Given the description of an element on the screen output the (x, y) to click on. 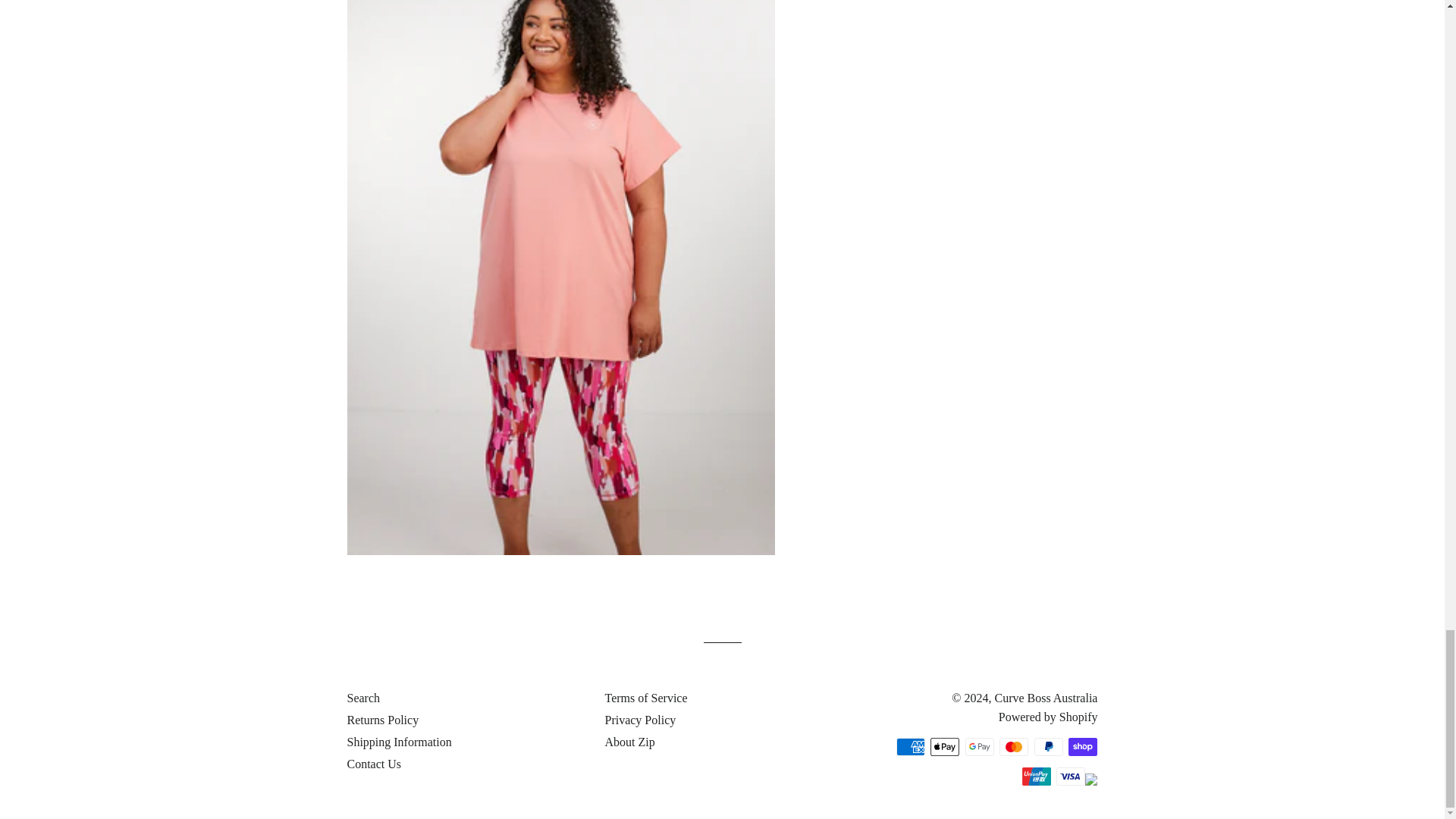
Union Pay (1036, 776)
American Express (910, 746)
PayPal (1047, 746)
Google Pay (979, 746)
Mastercard (1012, 746)
Shop Pay (1082, 746)
Apple Pay (944, 746)
Visa (1070, 776)
